Given the description of an element on the screen output the (x, y) to click on. 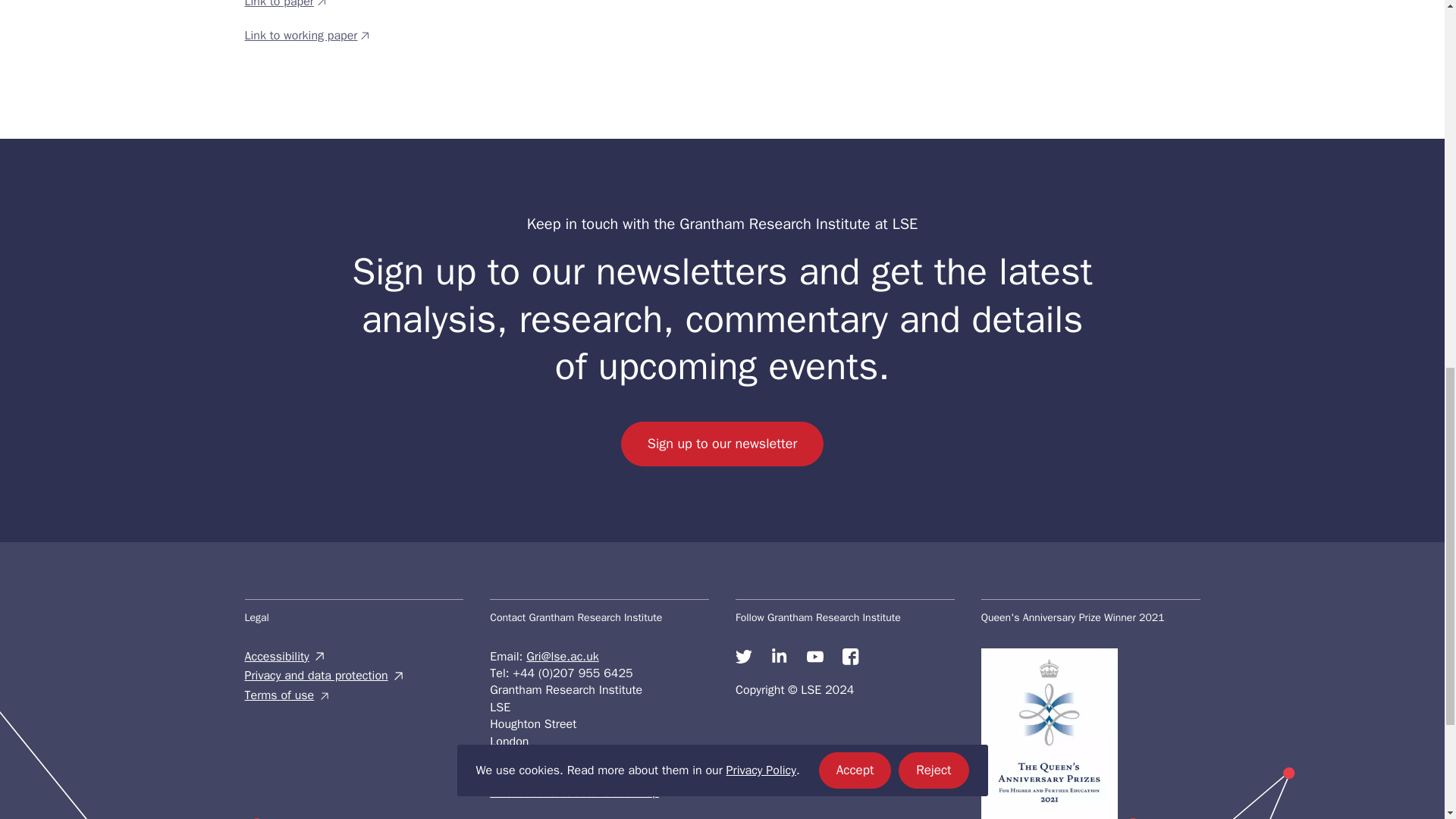
Terms of use (353, 695)
Accessibility (353, 656)
Privacy and data protection (353, 675)
